Given the description of an element on the screen output the (x, y) to click on. 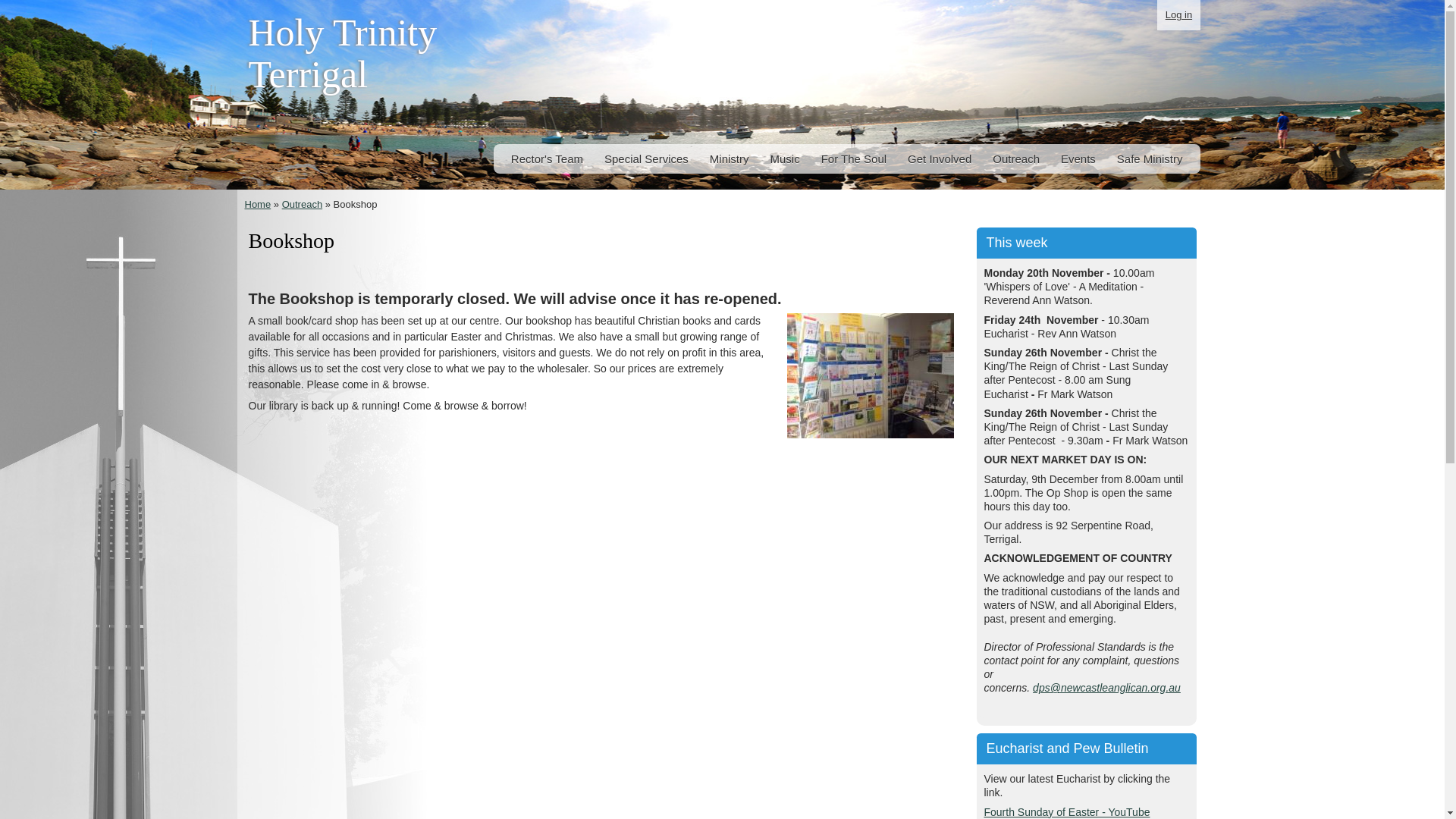
Safe Ministry Element type: text (1149, 158)
Music Element type: text (784, 158)
Fourth Sunday of Easter - YouTube Element type: text (1067, 811)
Rector's Team Element type: text (546, 158)
Holy Trinity Terrigal Element type: text (342, 58)
Outreach Element type: text (1015, 158)
Skip to main content Element type: text (690, 1)
For The Soul Element type: text (853, 158)
Ministry Element type: text (729, 158)
Outreach Element type: text (302, 204)
Home Element type: text (257, 204)
dps@newcastleanglican.org.au Element type: text (1106, 687)
Get Involved Element type: text (939, 158)
Log in Element type: text (1178, 15)
Special Services Element type: text (646, 158)
Events Element type: text (1078, 158)
